Given the description of an element on the screen output the (x, y) to click on. 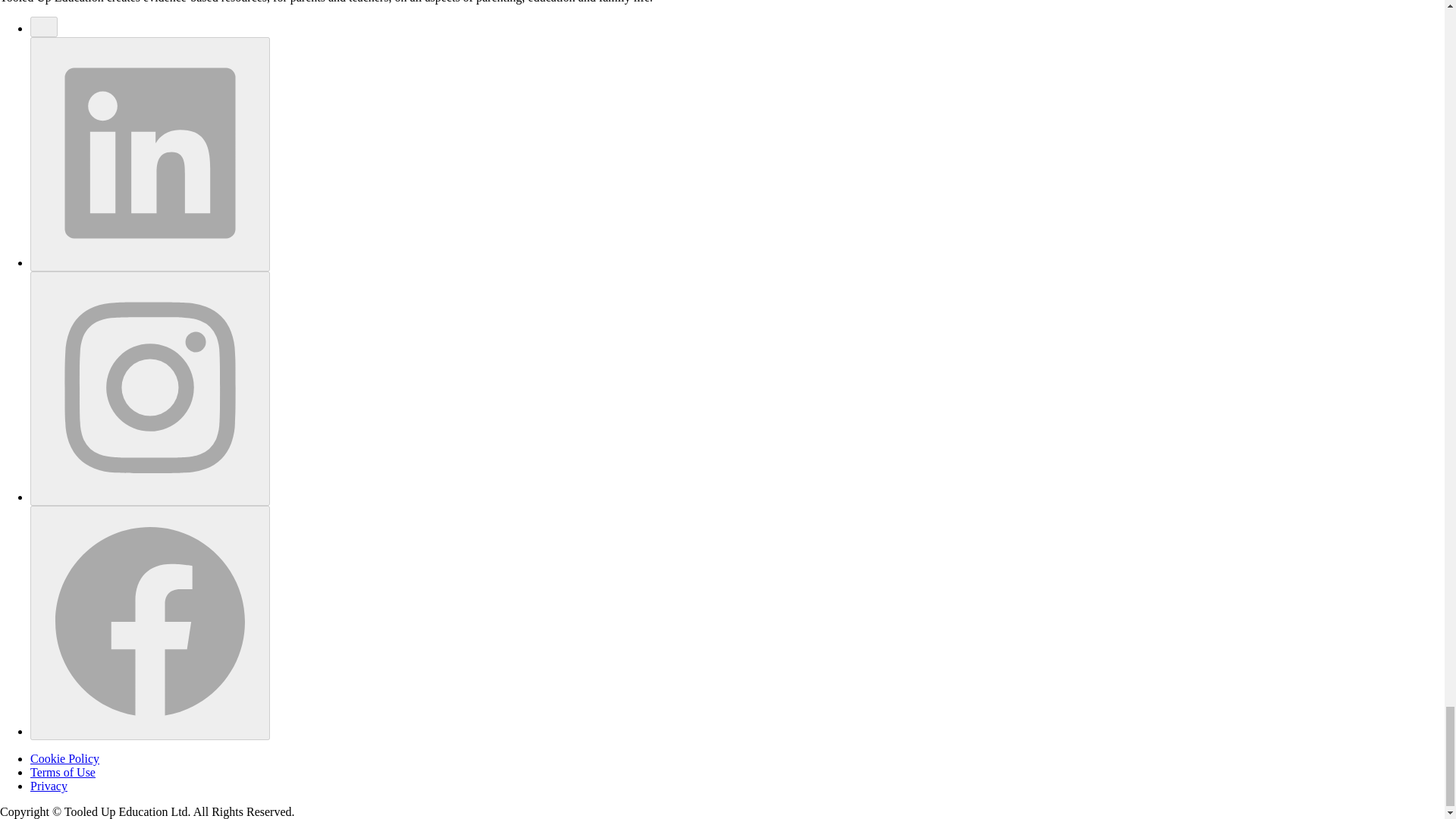
Terms of Use (63, 771)
Cookie Policy (64, 758)
Privacy (48, 785)
